Given the description of an element on the screen output the (x, y) to click on. 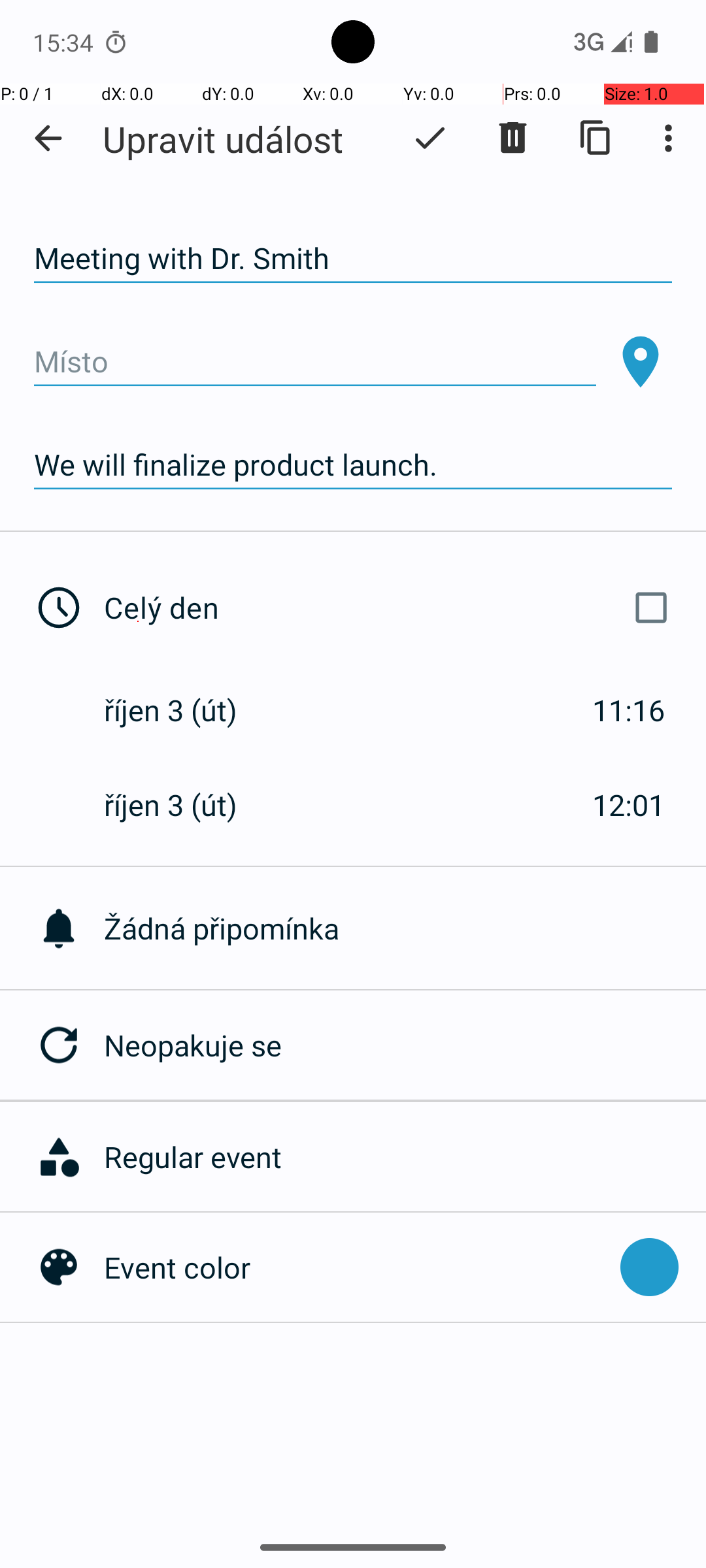
Upravit událost Element type: android.widget.TextView (222, 138)
Uložit Element type: android.widget.Button (429, 137)
Smazat Element type: android.widget.Button (512, 137)
Zkopírovat událost Element type: android.widget.Button (595, 137)
Místo Element type: android.widget.EditText (314, 361)
We will finalize product launch. Element type: android.widget.EditText (352, 465)
říjen 3 (út) Element type: android.widget.TextView (183, 709)
11:16 Element type: android.widget.TextView (628, 709)
12:01 Element type: android.widget.TextView (628, 804)
Žádná připomínka Element type: android.widget.TextView (404, 927)
Neopakuje se Element type: android.widget.TextView (404, 1044)
Celý den Element type: android.widget.CheckBox (390, 607)
